Given the description of an element on the screen output the (x, y) to click on. 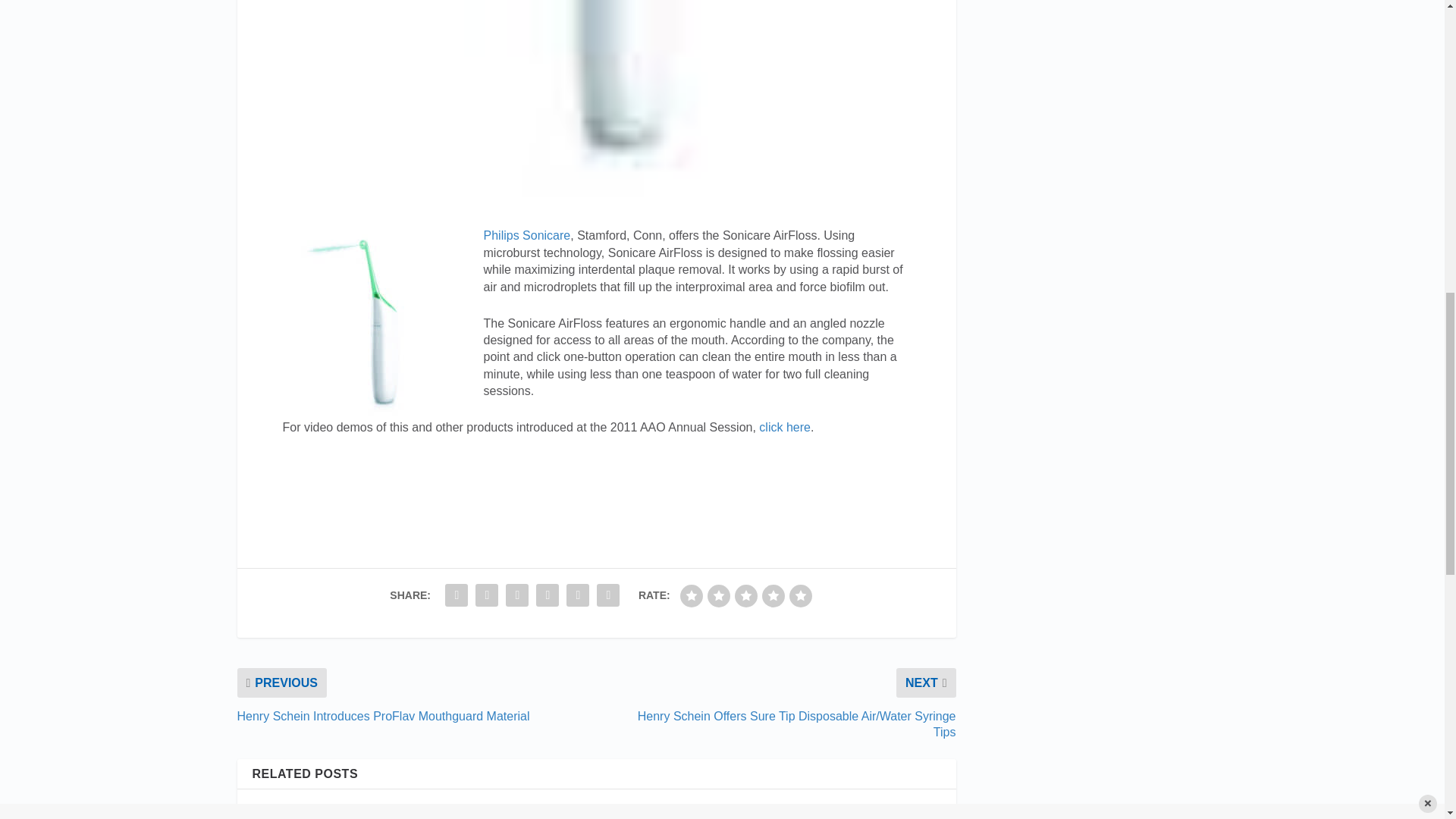
bad (691, 595)
regular (746, 595)
poor (718, 595)
good (772, 595)
